Given the description of an element on the screen output the (x, y) to click on. 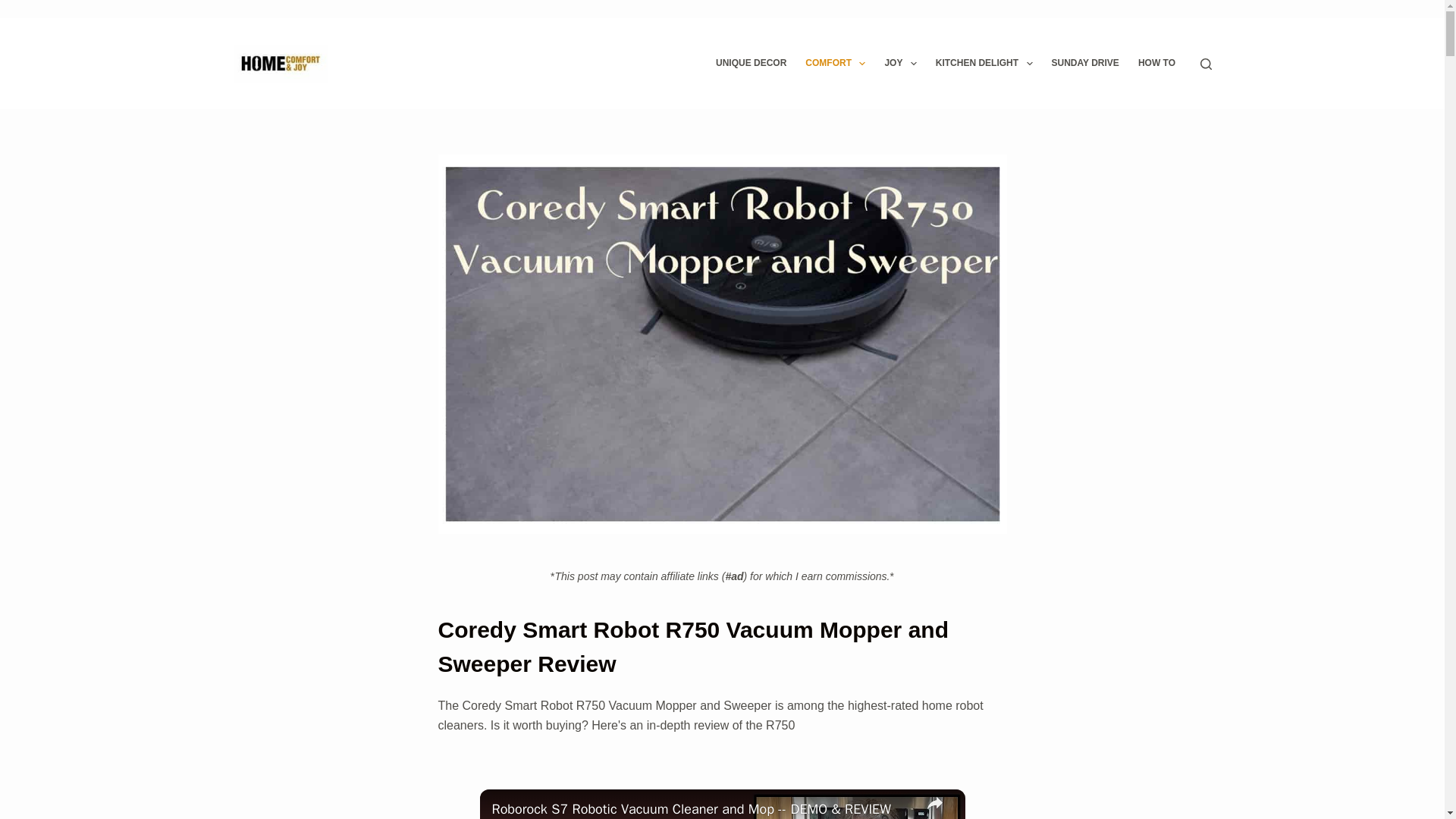
SUNDAY DRIVE (1085, 63)
UNIQUE DECOR (750, 63)
share (933, 804)
Skip to content (15, 7)
KITCHEN DELIGHT (984, 63)
Coredy Smart Robot R750 Vacuum Mopper and Sweeper Review (722, 646)
